Given the description of an element on the screen output the (x, y) to click on. 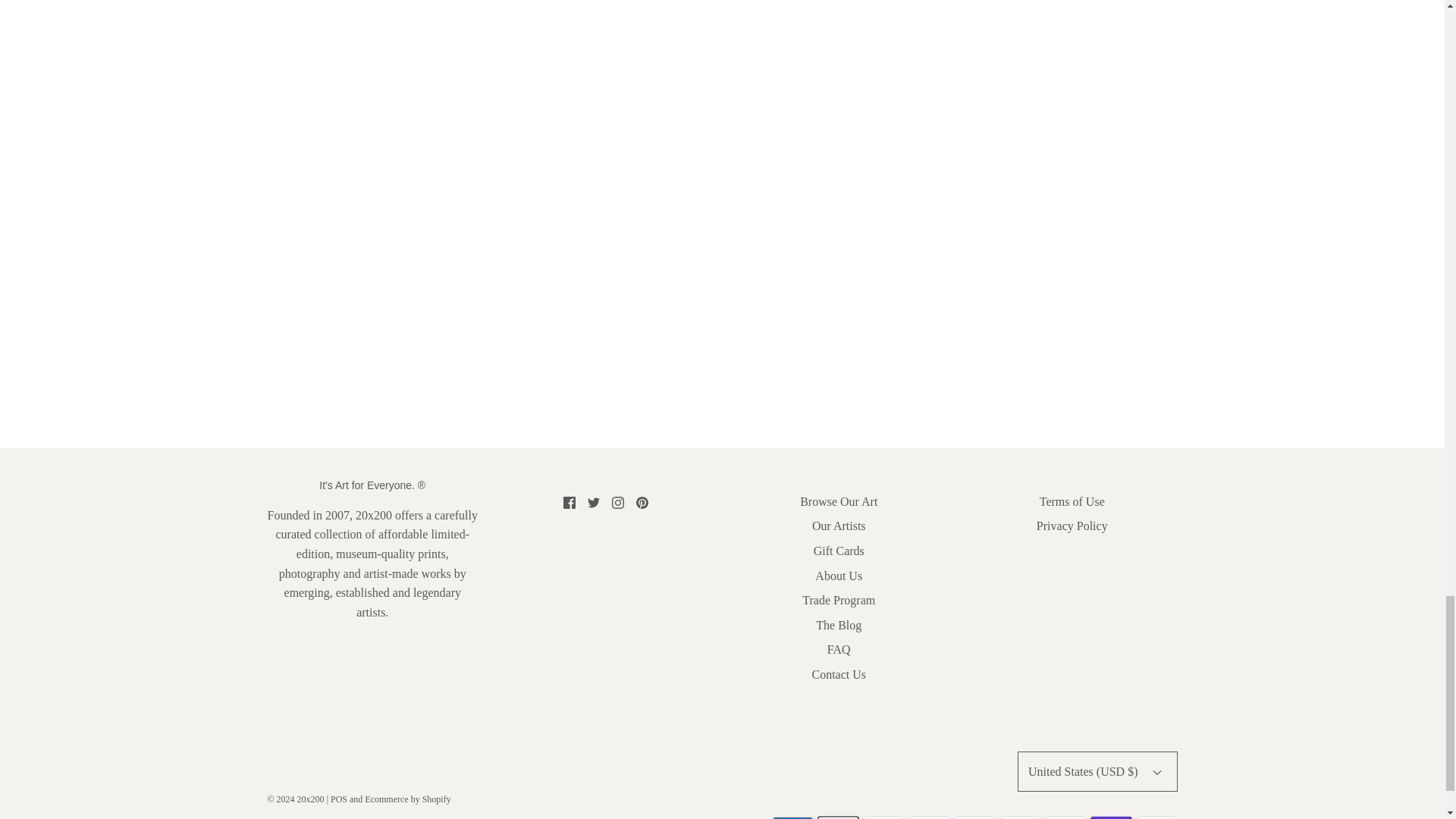
Pinterest icon (641, 502)
Diners Club (883, 816)
American Express (792, 816)
Mastercard (1065, 816)
Facebook icon (569, 502)
Discover (929, 816)
Apple Pay (837, 816)
Google Pay (1019, 816)
Meta Pay (974, 816)
Visa (1156, 816)
